Given the description of an element on the screen output the (x, y) to click on. 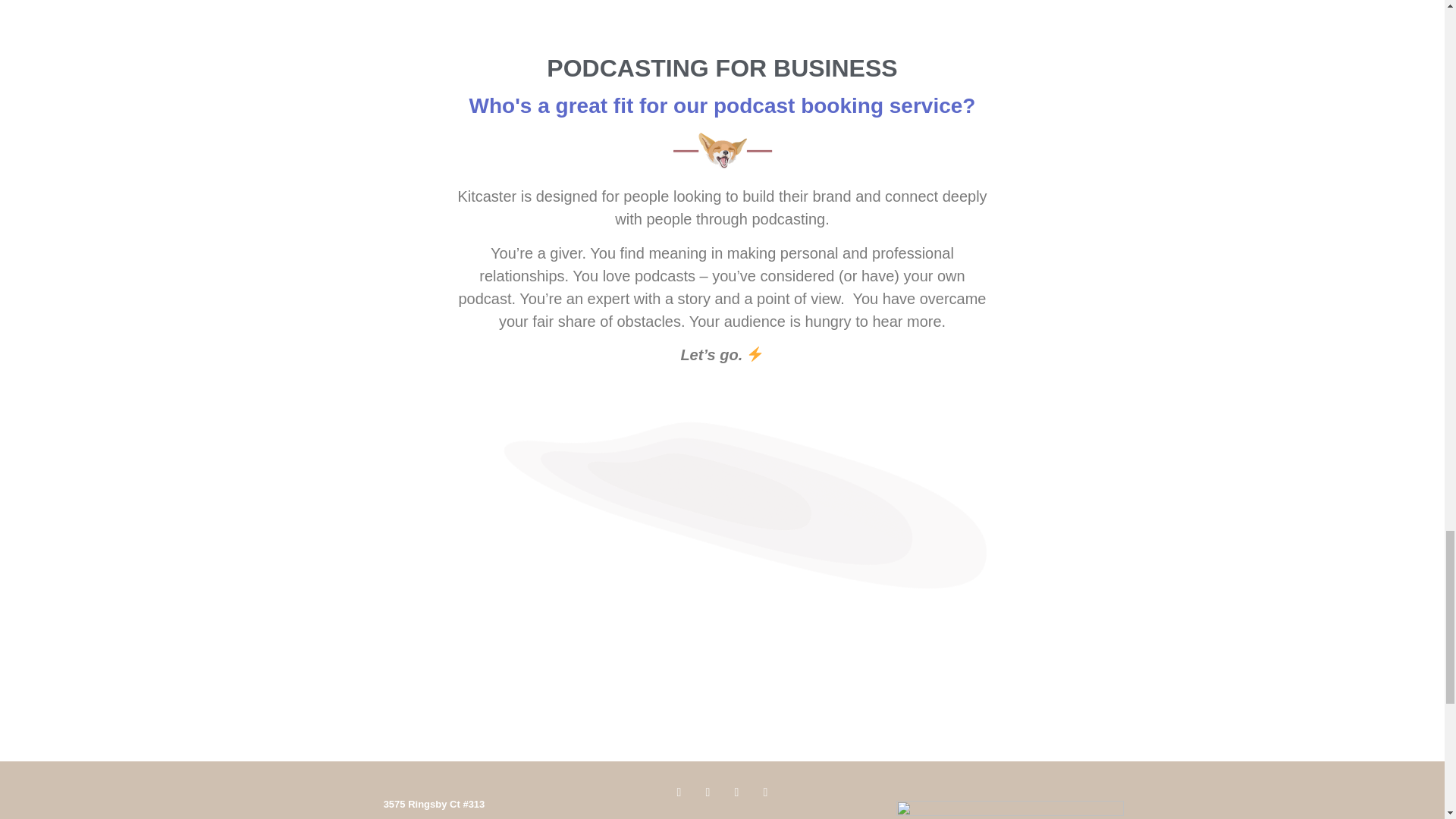
Eric Wright Case Study 4 (721, 150)
